Given the description of an element on the screen output the (x, y) to click on. 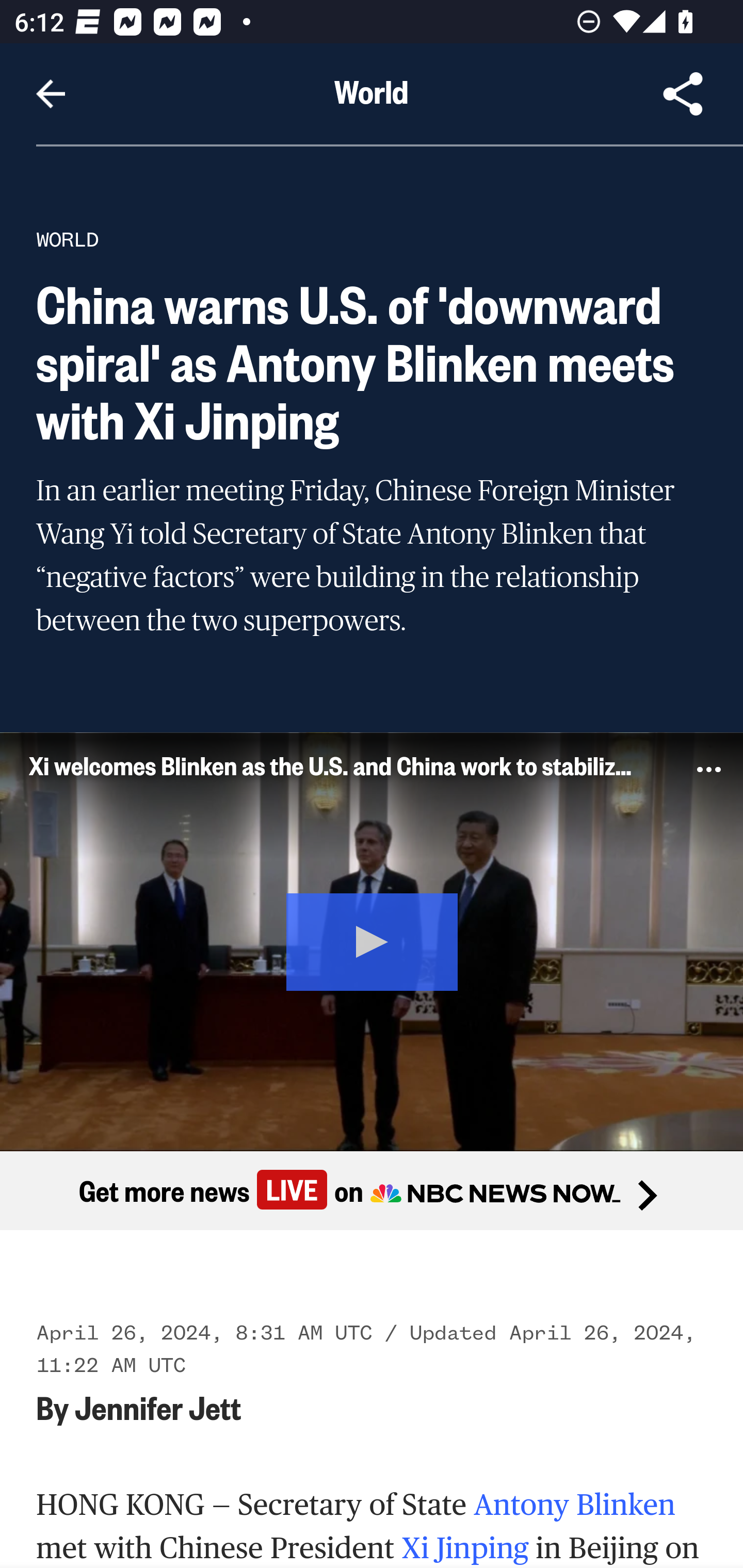
Navigate up (50, 93)
Share Article, button (683, 94)
